Given the description of an element on the screen output the (x, y) to click on. 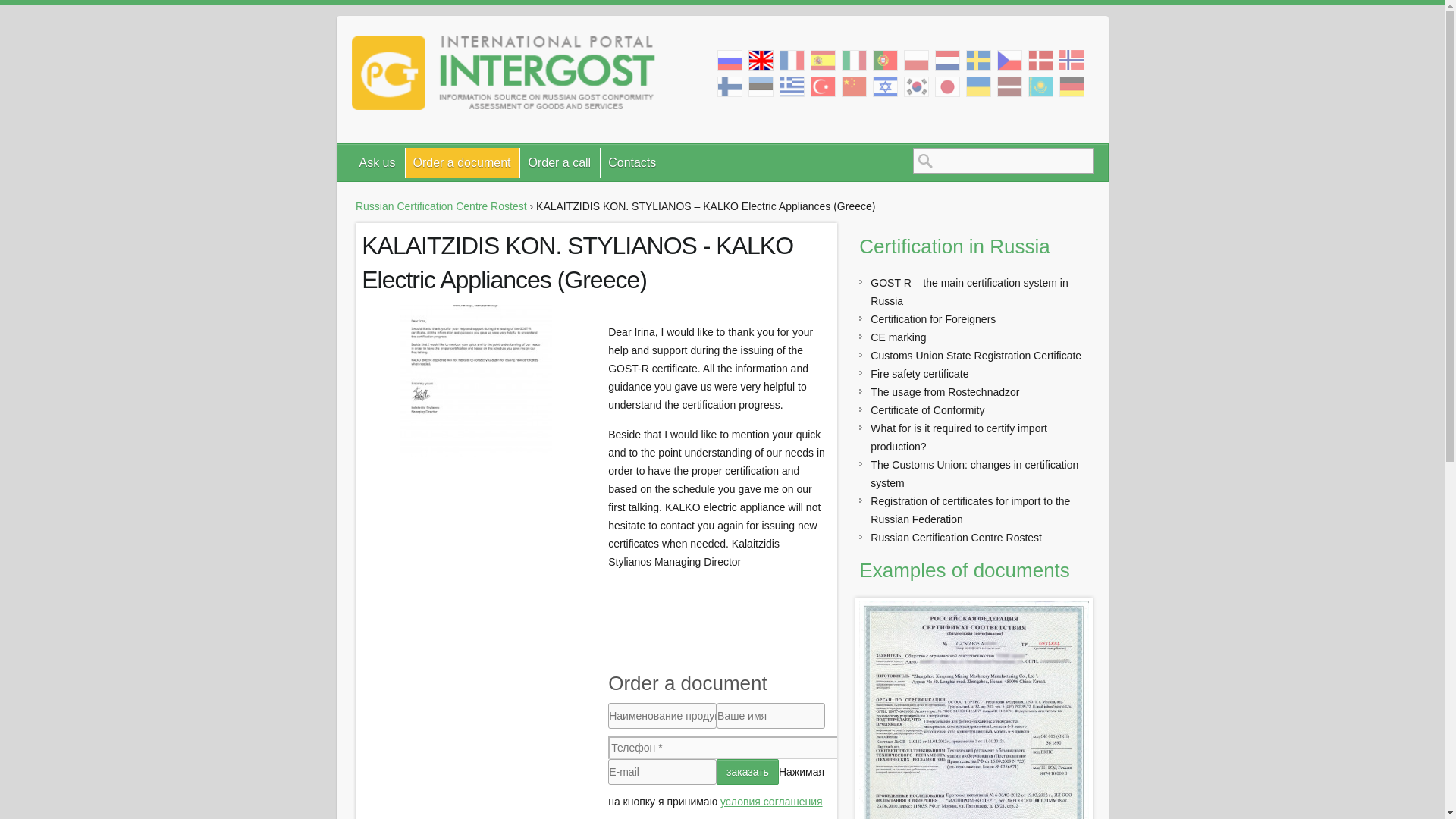
Fire safety certificate (919, 373)
Customs Union State Registration Certificate (975, 355)
Contacts (632, 163)
Certification for Foreigners (932, 318)
Ask us (378, 163)
CE marking (898, 337)
Order a document (462, 163)
Russian Certification Centre Rostest (441, 205)
Order a call (559, 163)
